Given the description of an element on the screen output the (x, y) to click on. 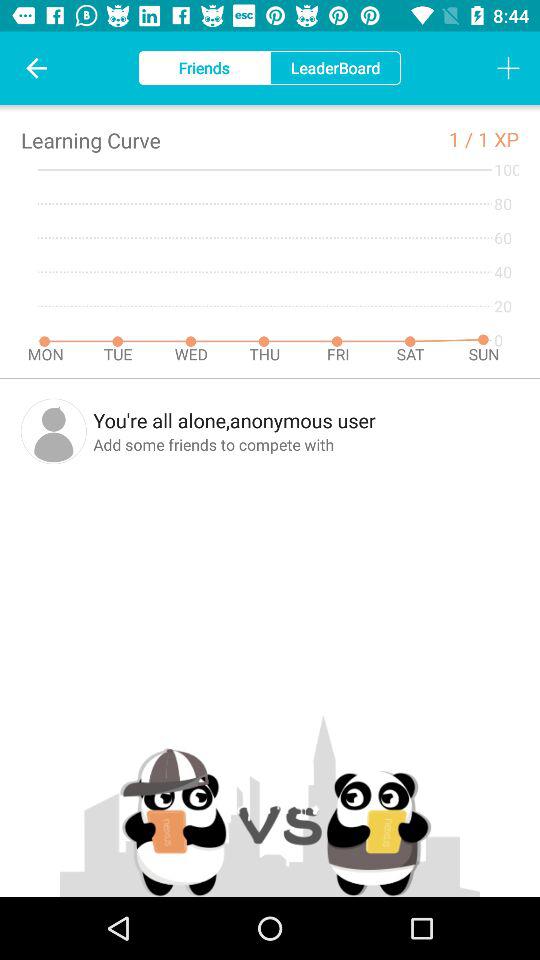
turn off the icon to the left of the 1 /  icon (90, 139)
